Given the description of an element on the screen output the (x, y) to click on. 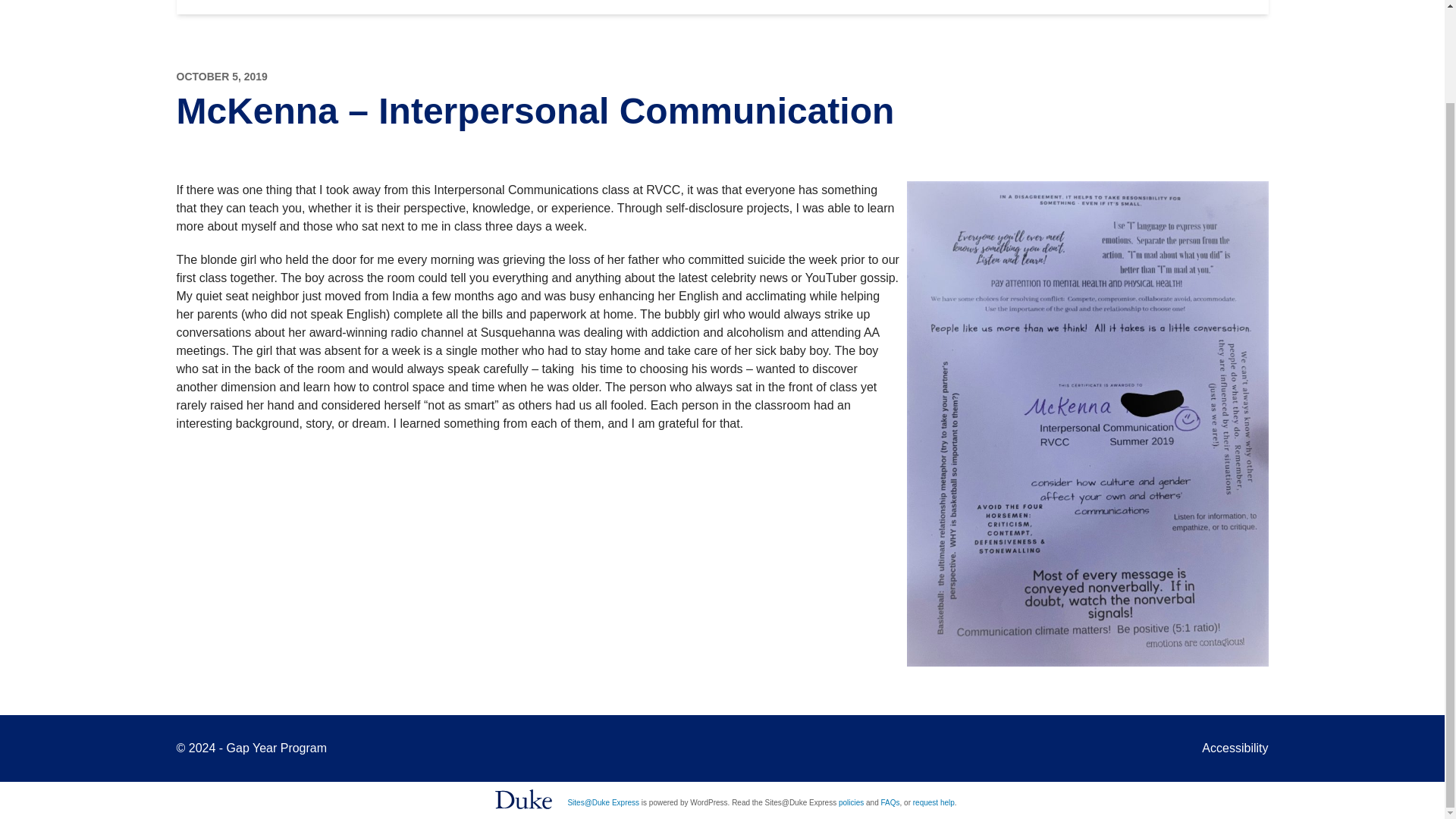
Accessibility (1235, 748)
MEET OUR COHORTS (711, 7)
BLOGS (848, 7)
request help (933, 802)
Visit Duke.edu (523, 799)
ABOUT GAP YEARS (980, 7)
GAP YEAR CONDITIONS (521, 7)
ABOUT THE DGYP (342, 7)
FAQS (1106, 7)
policies (850, 802)
HOME (219, 7)
FAQs (889, 802)
